Given the description of an element on the screen output the (x, y) to click on. 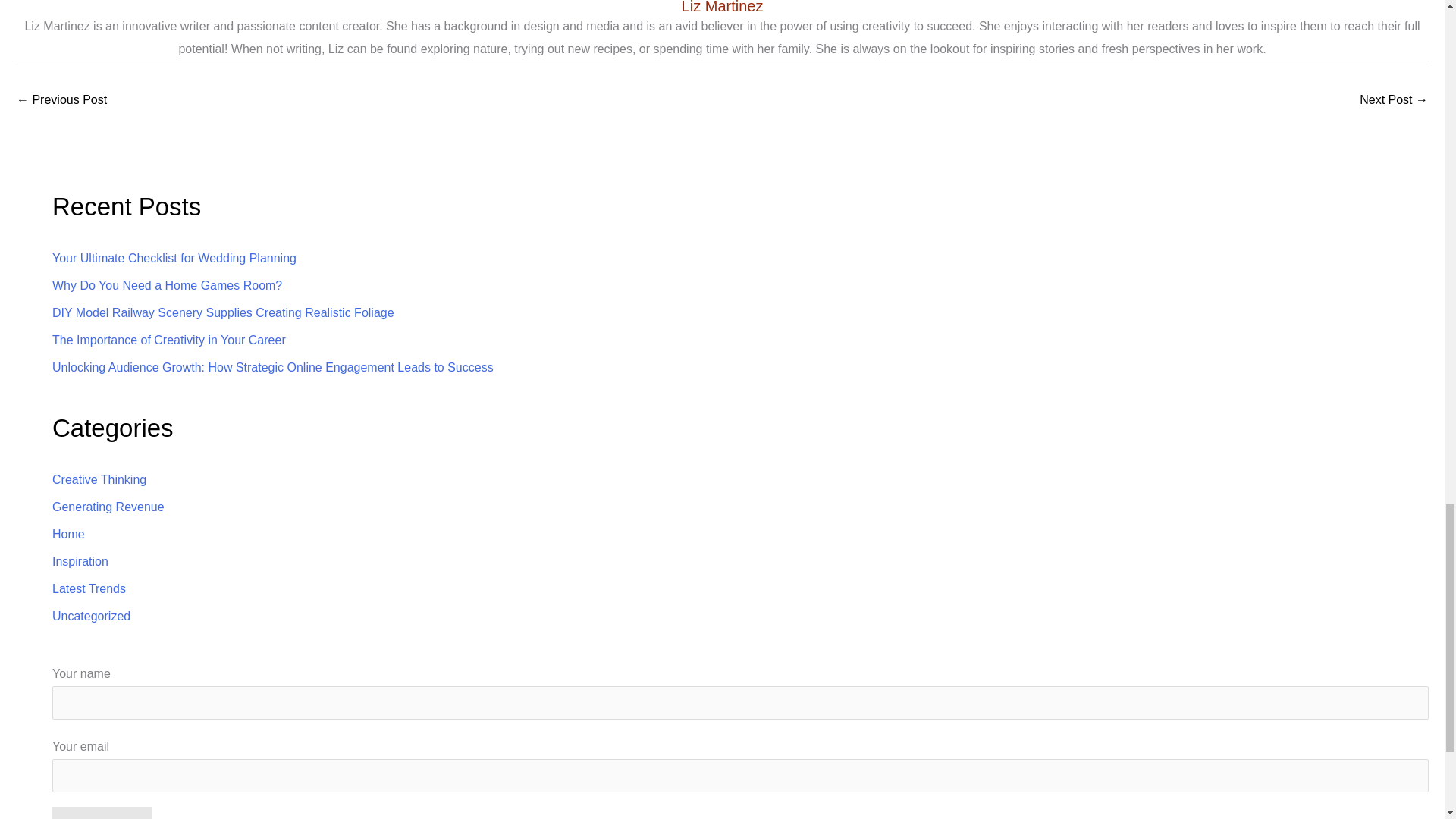
Why Do You Need a Home Games Room? (167, 285)
Latest Trends (88, 588)
Inspiration (79, 561)
Your Ultimate Checklist for Wedding Planning (174, 257)
Subscribe (101, 812)
Generating Revenue (108, 506)
Uncategorized (91, 615)
